Given the description of an element on the screen output the (x, y) to click on. 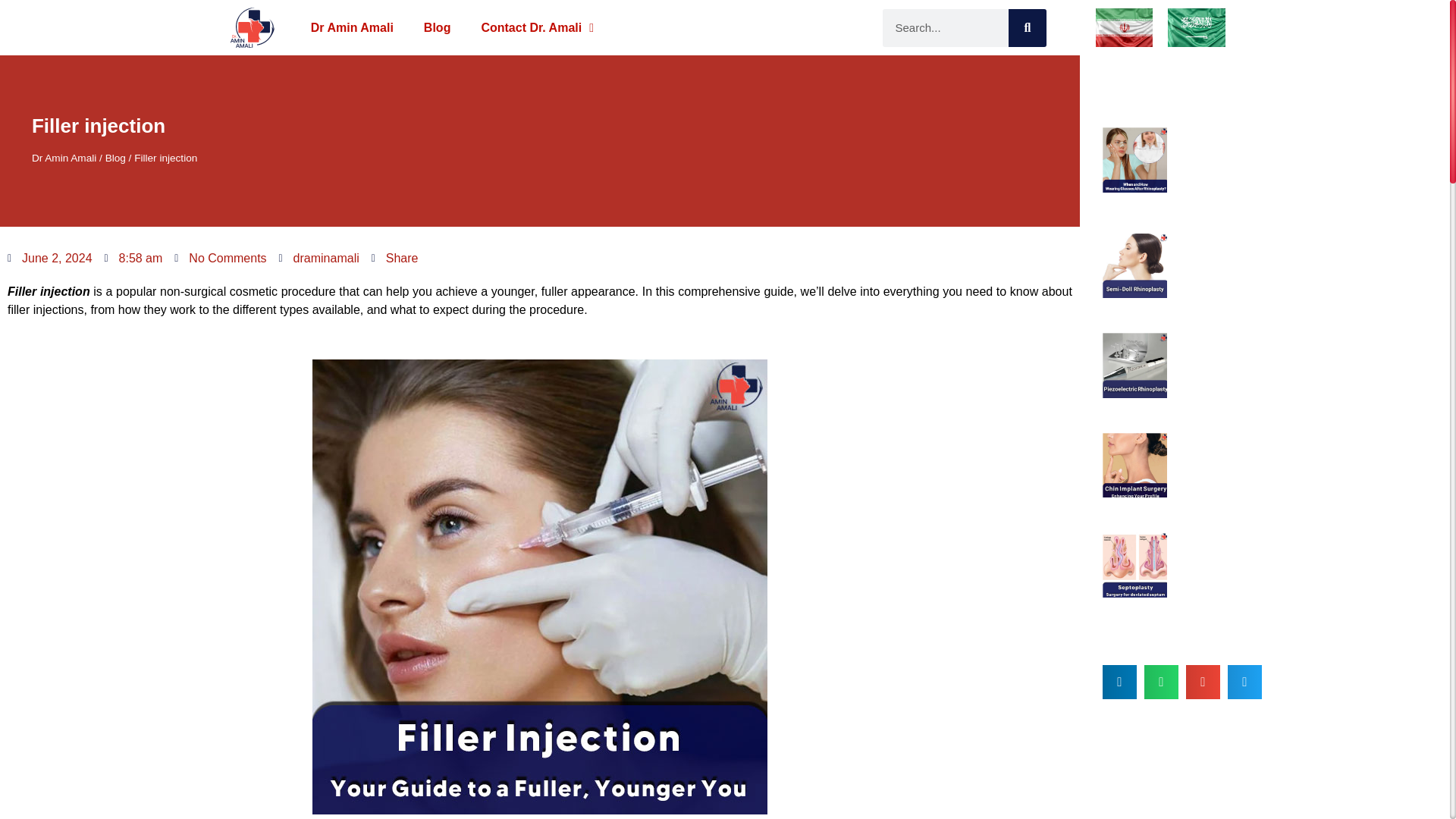
Dr Amin Amali (64, 157)
Share (395, 258)
June 2, 2024 (50, 258)
Blog (114, 157)
Dr Amin Amali (352, 27)
No Comments (220, 258)
Blog (437, 27)
Contact Dr. Amali (536, 27)
draminamali (319, 258)
